Given the description of an element on the screen output the (x, y) to click on. 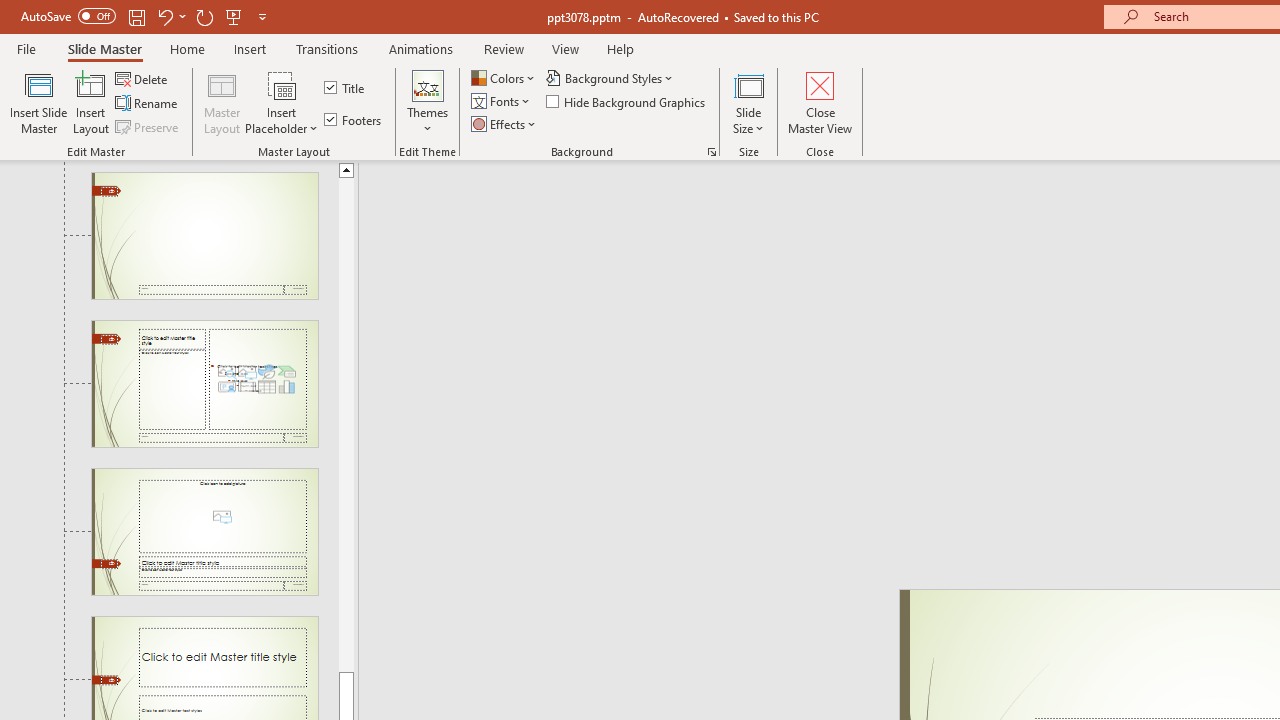
Slide Content with Caption Layout: used by no slides (204, 384)
Footers (354, 119)
Insert Layout (91, 102)
Title (346, 87)
Fonts (502, 101)
Preserve (148, 126)
